Given the description of an element on the screen output the (x, y) to click on. 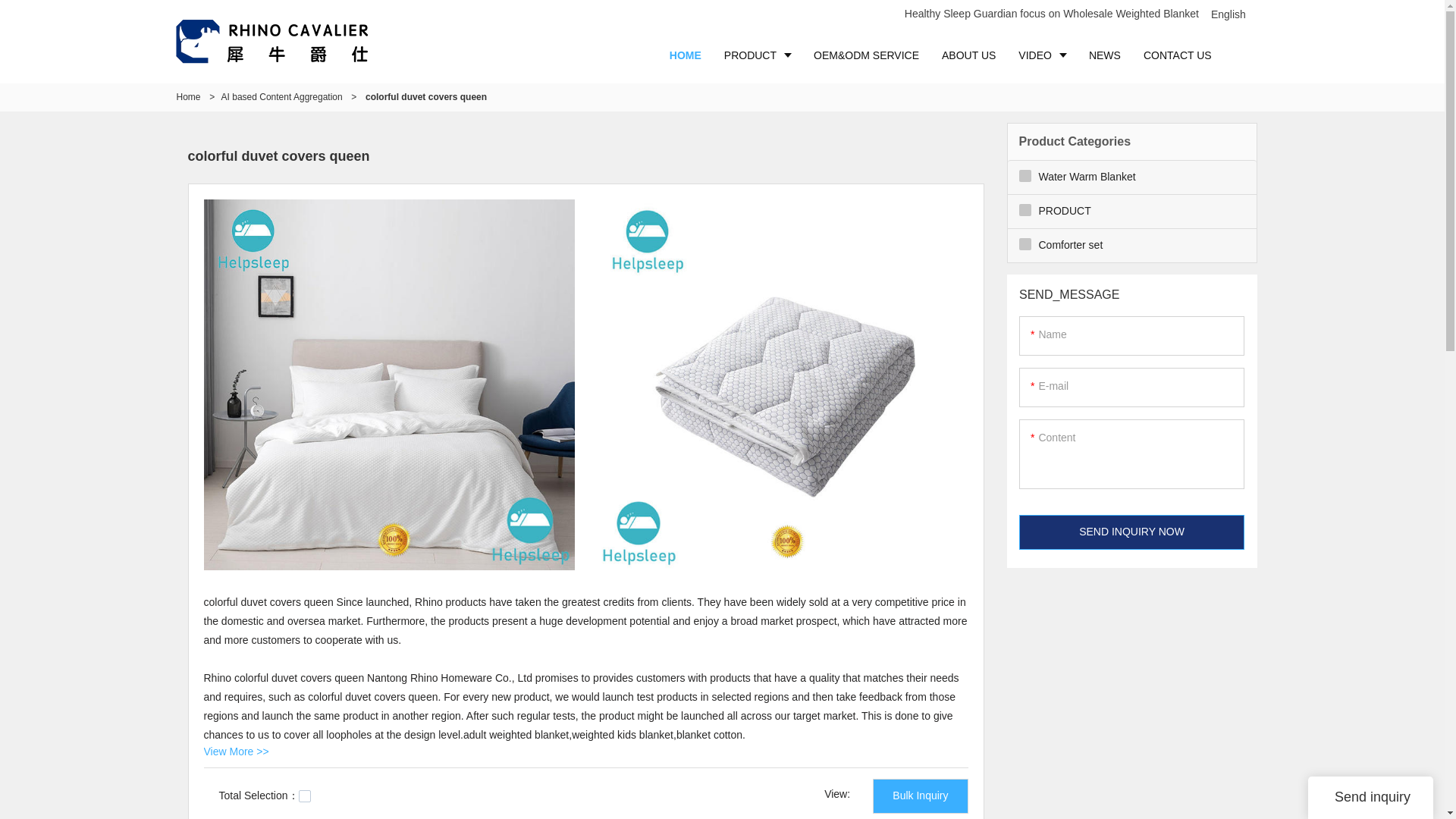
AI based Content Aggregation (281, 96)
PRODUCT (757, 55)
ABOUT US (968, 55)
VIDEO (1042, 55)
Home (188, 96)
CONTACT US (1177, 55)
NEWS (1104, 55)
on (304, 796)
HOME (685, 55)
